Given the description of an element on the screen output the (x, y) to click on. 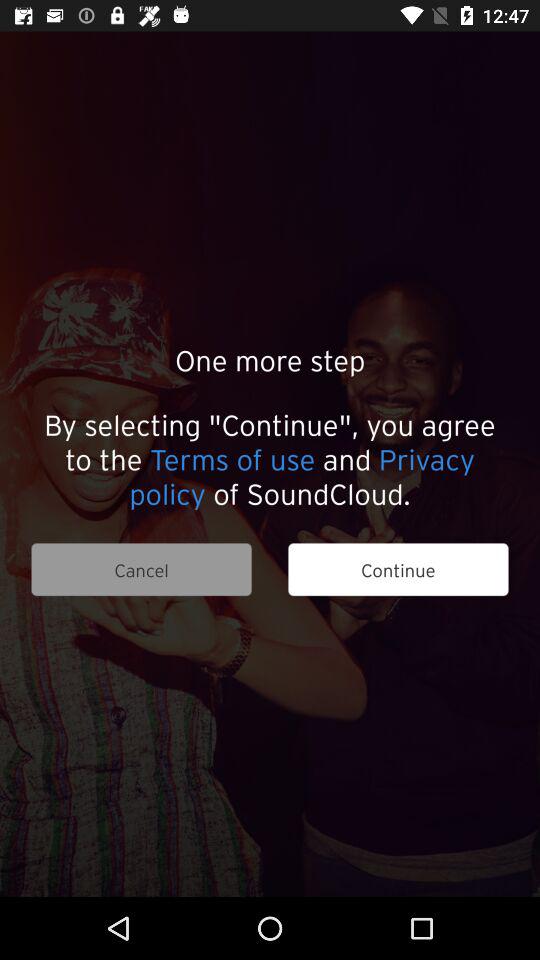
turn on icon on the left (141, 569)
